Given the description of an element on the screen output the (x, y) to click on. 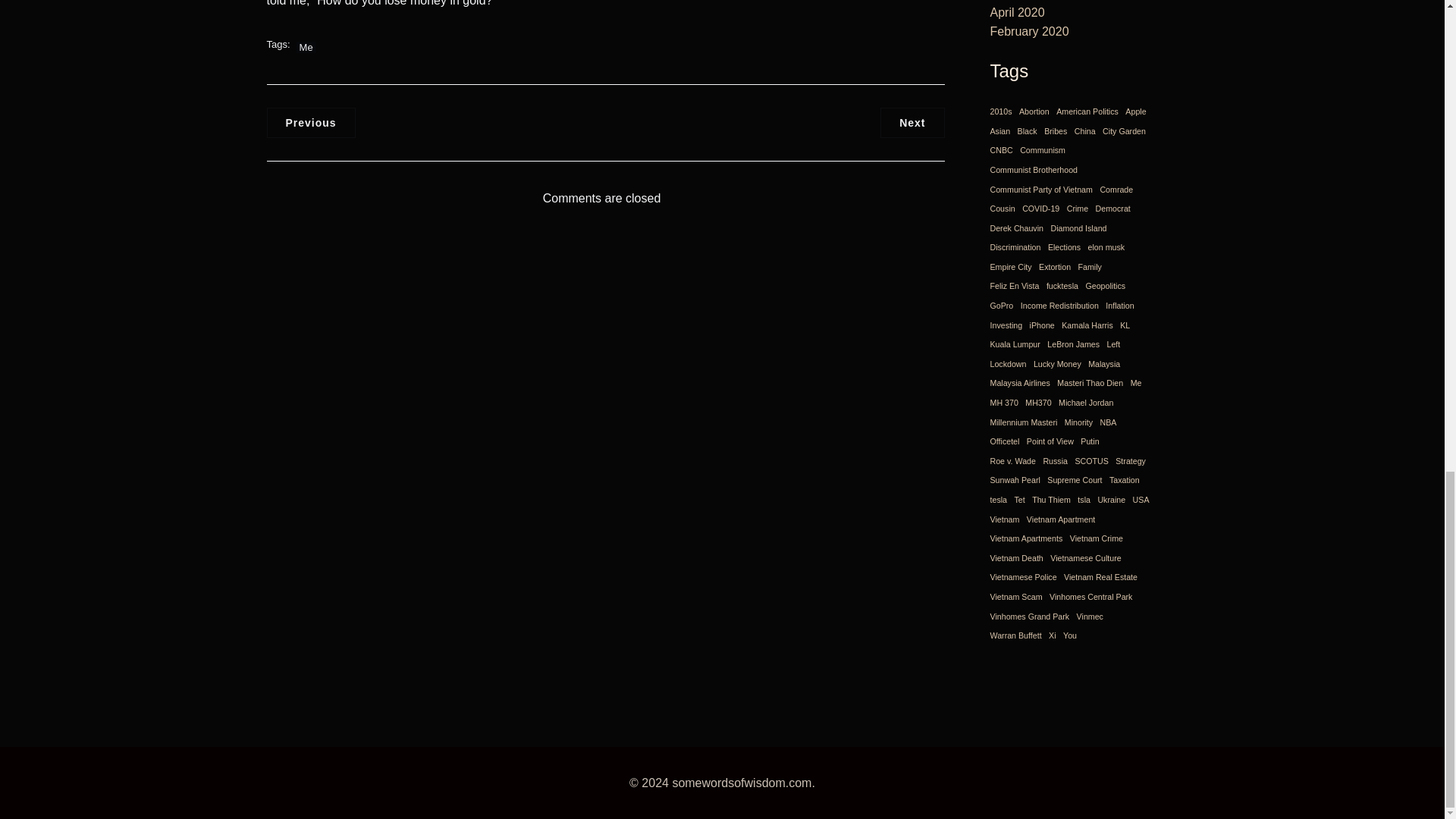
2010s (1000, 111)
Me (306, 47)
April 2020 (1017, 11)
Abortion (1034, 111)
Previous (310, 122)
February 2020 (1029, 31)
Next (911, 122)
